Given the description of an element on the screen output the (x, y) to click on. 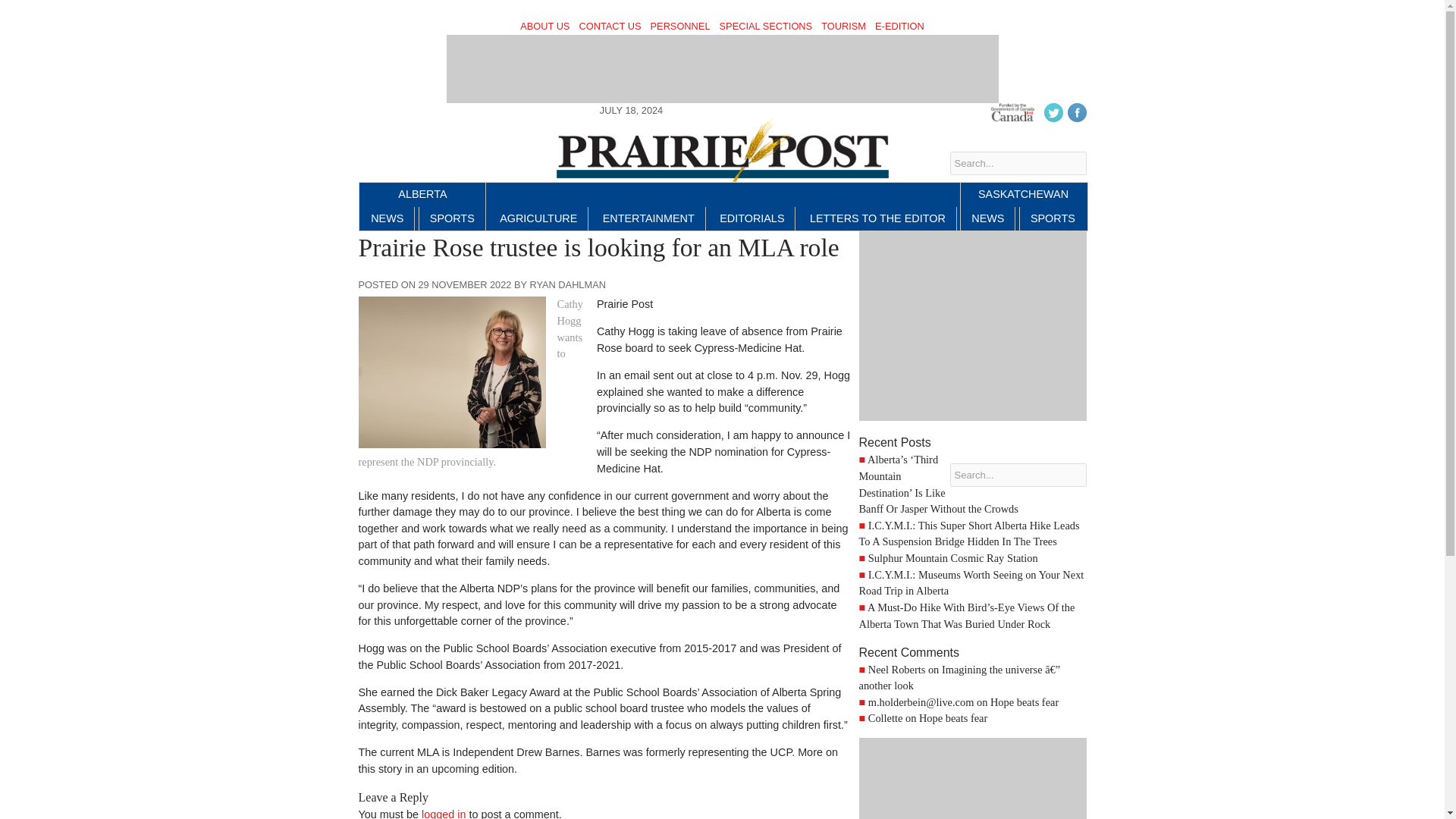
NEWS (987, 218)
ABOUT US (545, 25)
SPORTS (451, 218)
3rd party ad content (721, 69)
NEWS (386, 218)
ENTERTAINMENT (648, 218)
AGRICULTURE (538, 218)
E-EDITION (899, 25)
PERSONNEL (679, 25)
SASKATCHEWAN (1023, 194)
Sulphur Mountain Cosmic Ray Station (952, 558)
CONTACT US (609, 25)
LETTERS TO THE EDITOR (877, 218)
3rd party ad content (972, 778)
